Given the description of an element on the screen output the (x, y) to click on. 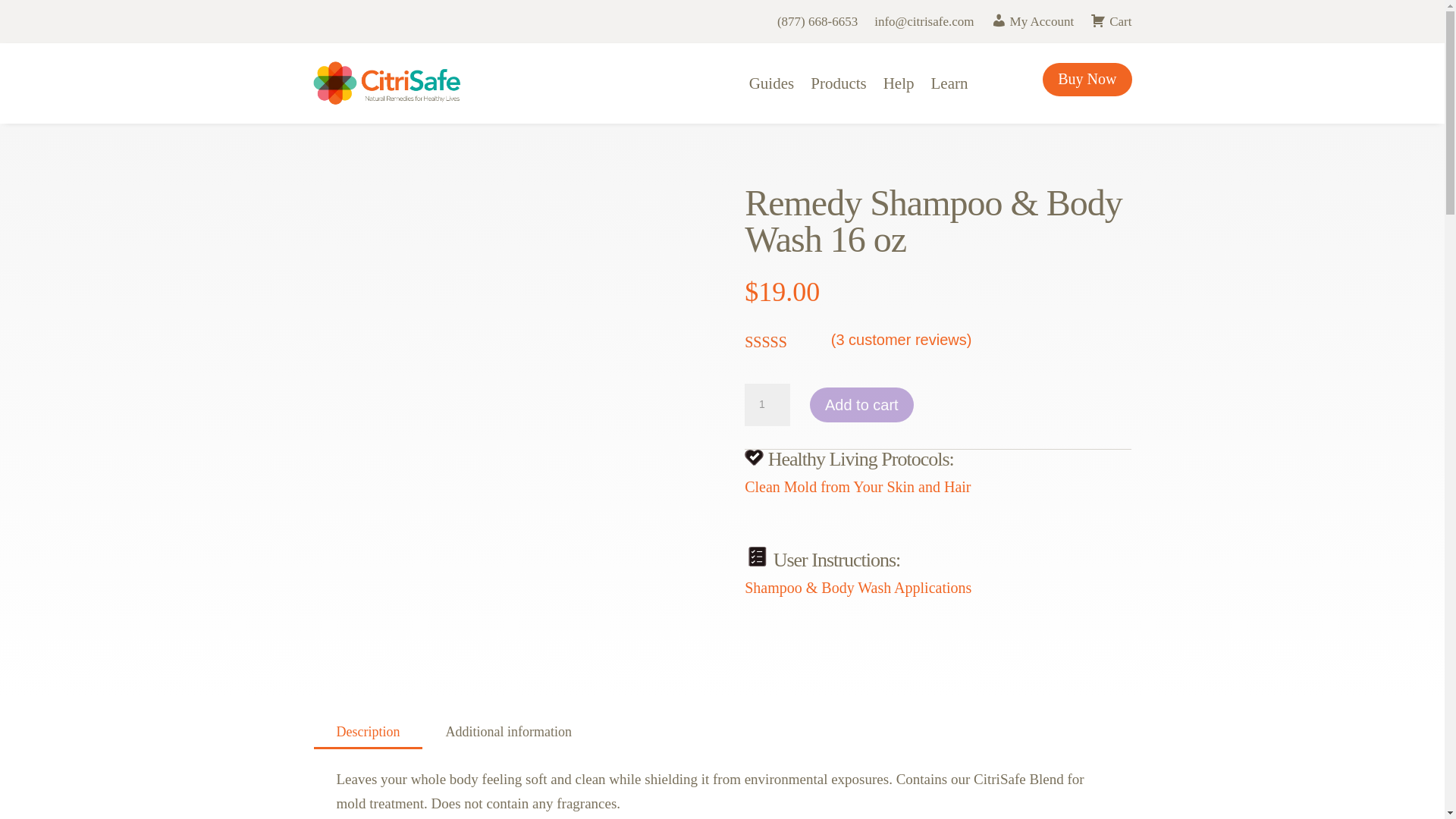
Description (368, 731)
Cart (1110, 25)
My Account (1032, 25)
Clean Mold from Your Skin and Hair (857, 486)
1 (767, 404)
Additional information (508, 731)
Add to cart (861, 404)
Products (838, 83)
Buy Now (1086, 79)
